Given the description of an element on the screen output the (x, y) to click on. 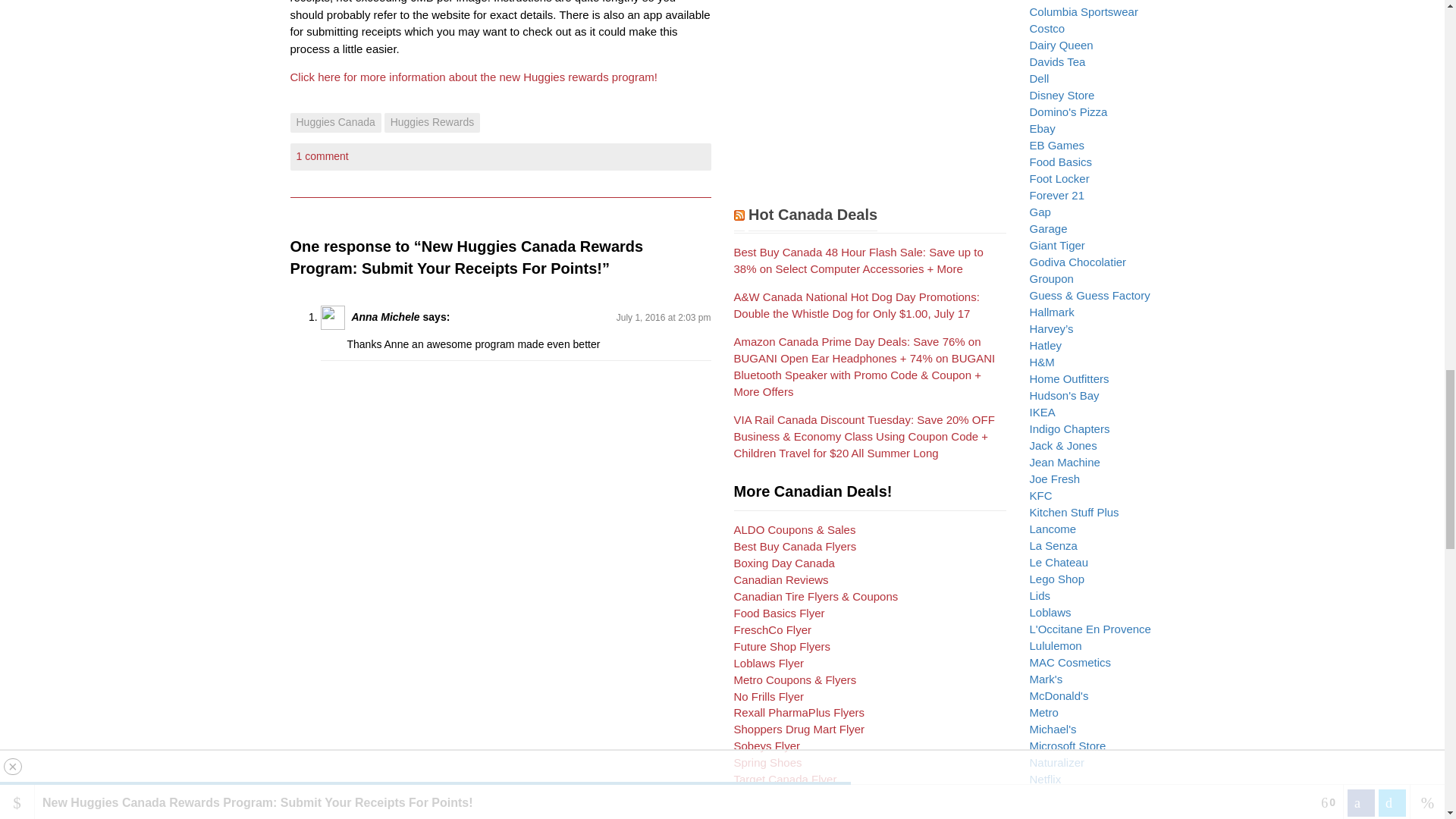
Huggies Canada (334, 122)
Best Buy Canada Flyers (795, 545)
Boxing Day Canada (783, 562)
July 1, 2016 at 2:03 pm (663, 317)
Canadian Reviews (780, 579)
Huggies Rewards (432, 122)
Food Basics Flyer (779, 612)
Hot Canada Deals (812, 218)
FreschCo Flyer (772, 629)
1 comment (321, 155)
